Given the description of an element on the screen output the (x, y) to click on. 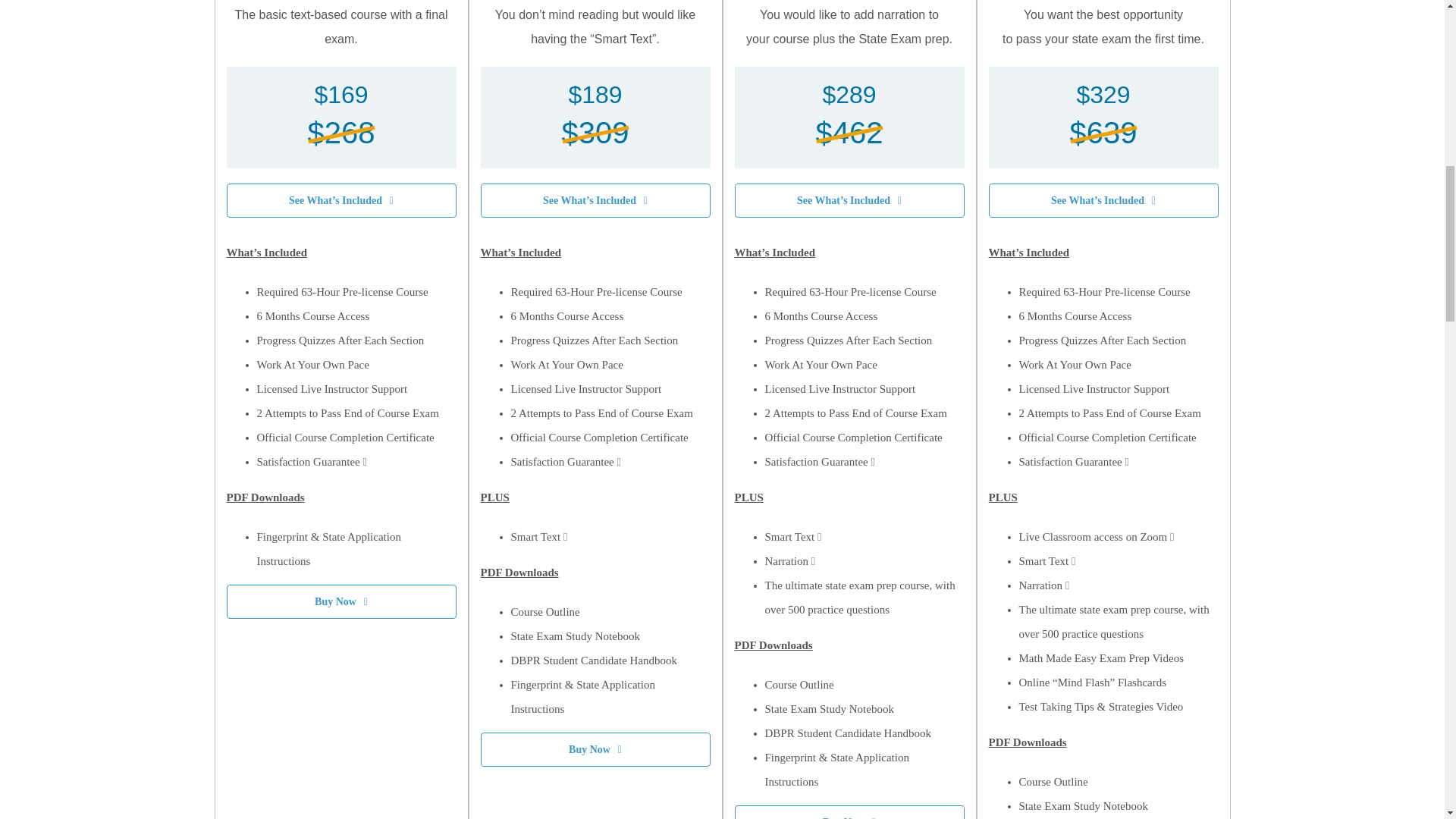
Buy Now (340, 601)
Buy Now (595, 749)
Buy Now (848, 812)
best-value (1021, 97)
